Given the description of an element on the screen output the (x, y) to click on. 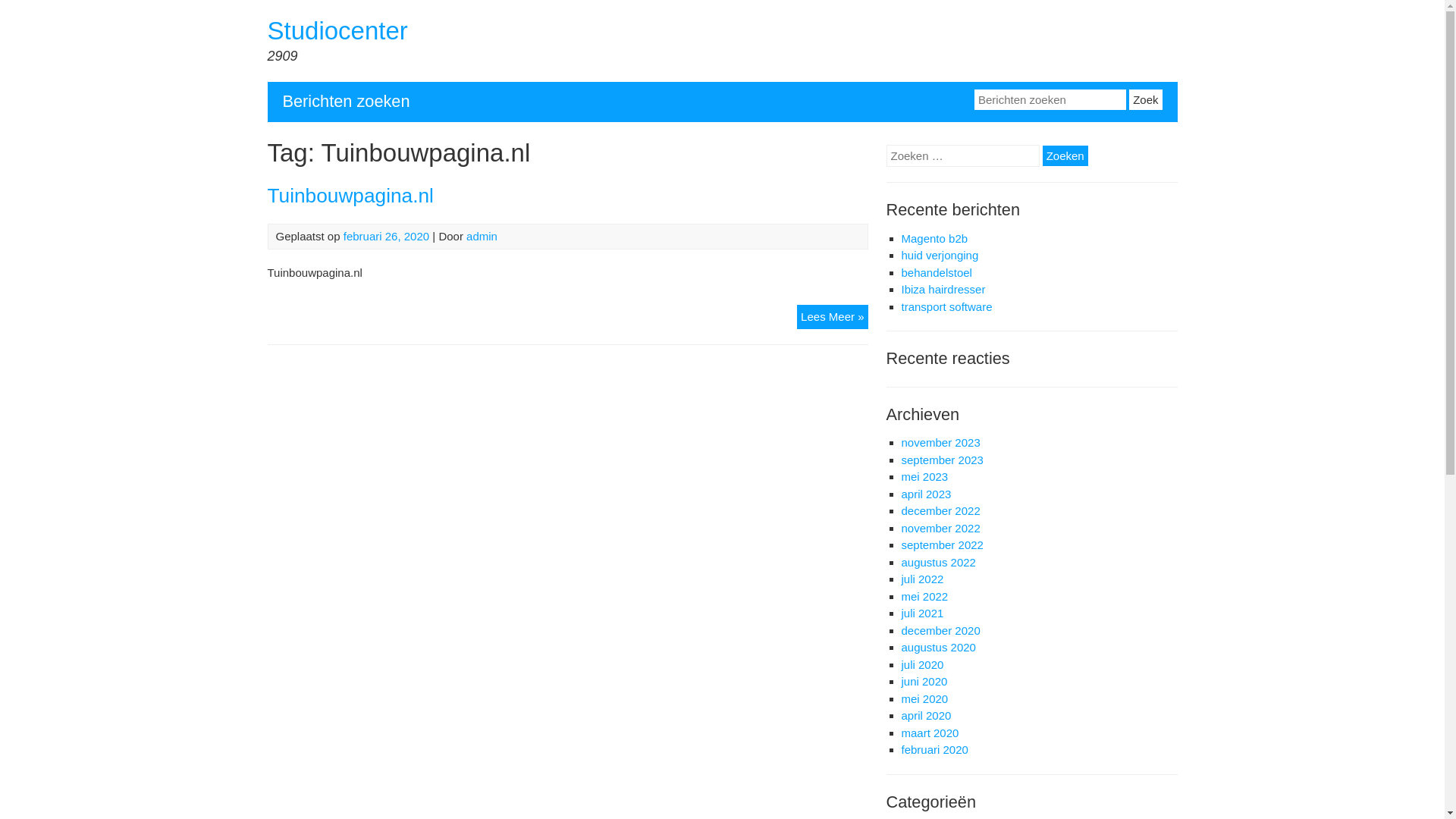
augustus 2022 Element type: text (937, 561)
juni 2020 Element type: text (923, 680)
Tuinbouwpagina.nl Element type: text (349, 195)
behandelstoel Element type: text (935, 271)
Zoek Element type: text (1145, 99)
mei 2022 Element type: text (923, 595)
admin Element type: text (481, 235)
maart 2020 Element type: text (929, 732)
Zoeken Element type: text (1065, 155)
mei 2023 Element type: text (923, 476)
Studiocenter Element type: text (336, 30)
augustus 2020 Element type: text (937, 646)
december 2020 Element type: text (939, 630)
november 2022 Element type: text (939, 527)
Magento b2b Element type: text (933, 238)
juli 2022 Element type: text (921, 578)
april 2023 Element type: text (925, 493)
huid verjonging Element type: text (939, 254)
februari 2020 Element type: text (933, 749)
juli 2021 Element type: text (921, 612)
mei 2020 Element type: text (923, 698)
september 2023 Element type: text (941, 459)
april 2020 Element type: text (925, 715)
juli 2020 Element type: text (921, 664)
Ibiza hairdresser Element type: text (942, 288)
februari 26, 2020 Element type: text (386, 235)
september 2022 Element type: text (941, 544)
transport software Element type: text (945, 306)
december 2022 Element type: text (939, 510)
november 2023 Element type: text (939, 442)
